Given the description of an element on the screen output the (x, y) to click on. 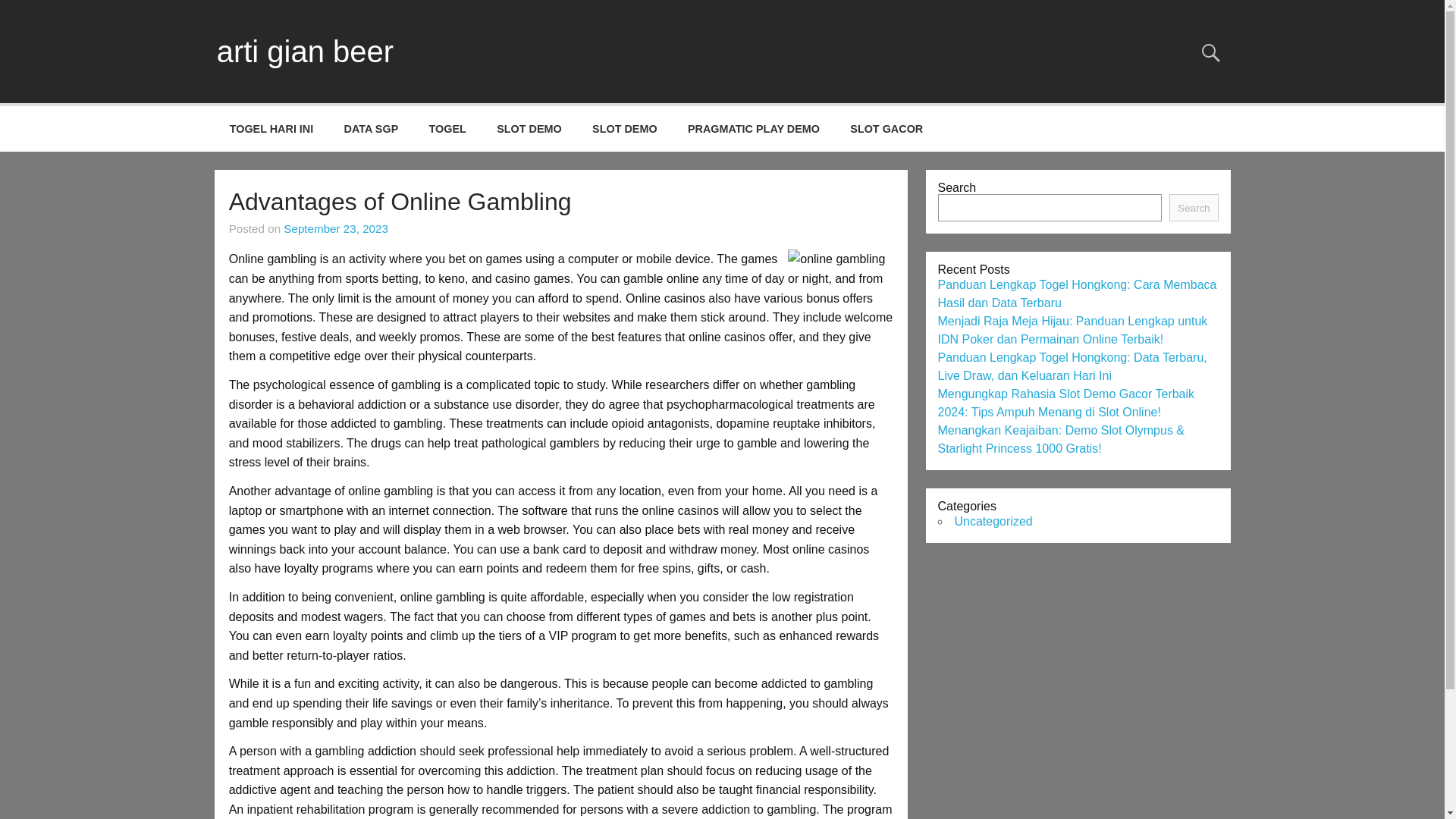
PRAGMATIC PLAY DEMO (753, 128)
Uncategorized (992, 521)
September 23, 2023 (335, 228)
DATA SGP (371, 128)
SLOT DEMO (624, 128)
arti gian beer (304, 51)
6:00 am (335, 228)
TOGEL HARI INI (271, 128)
